Given the description of an element on the screen output the (x, y) to click on. 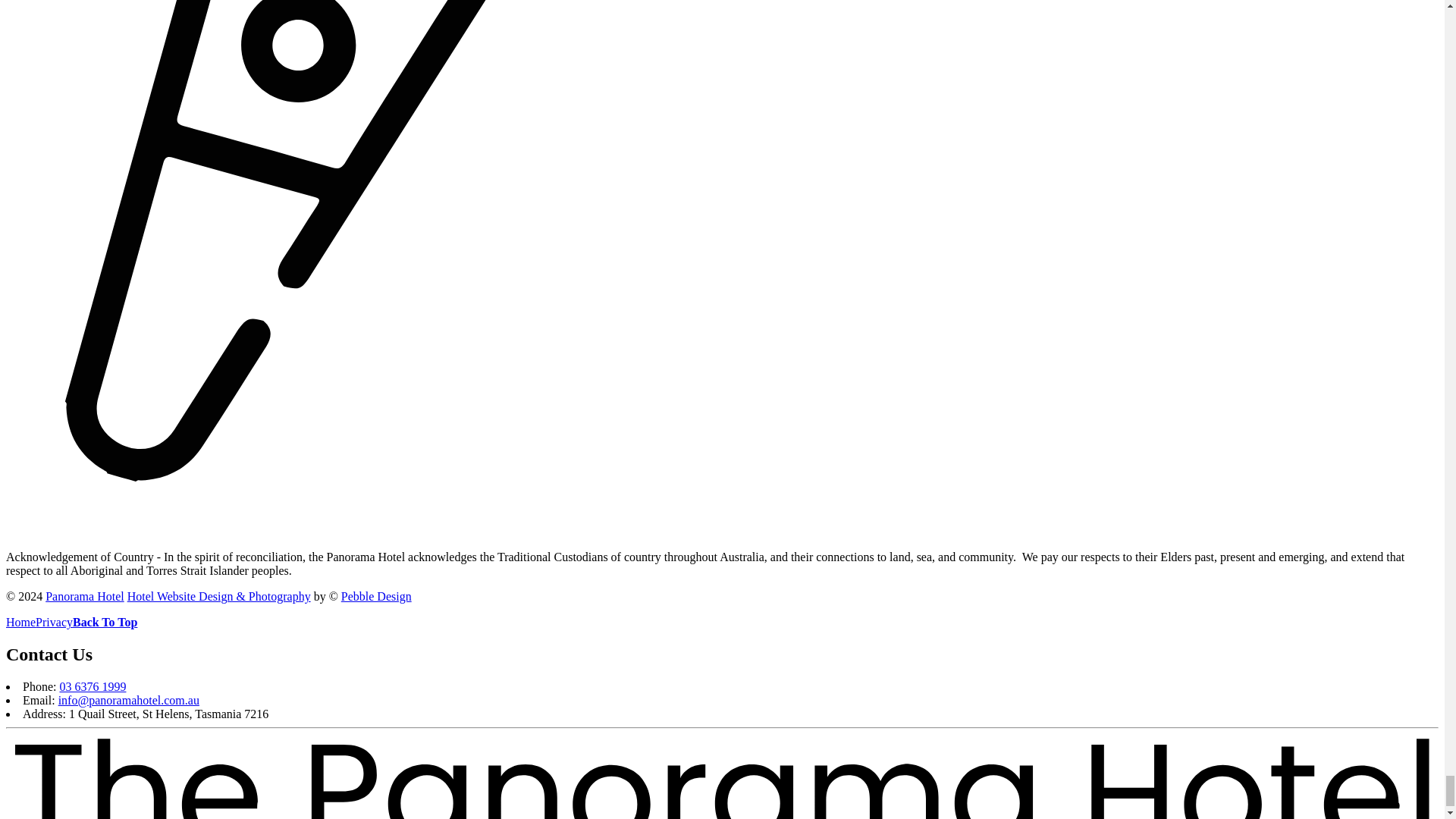
Hotel Website Design (219, 595)
Call Us (92, 686)
Email Us (128, 699)
